Given the description of an element on the screen output the (x, y) to click on. 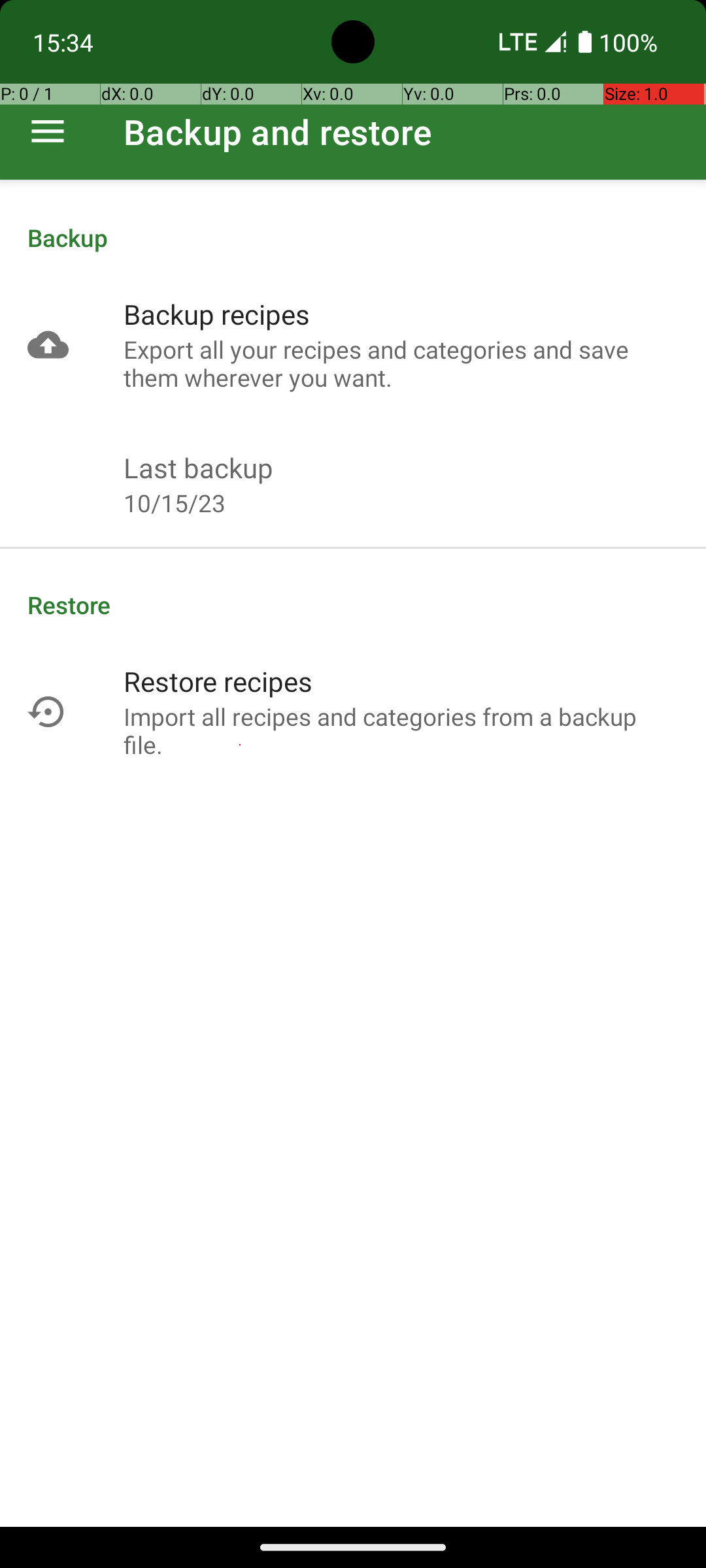
Backup recipes Element type: android.widget.TextView (216, 313)
Export all your recipes and categories and save them wherever you want. Element type: android.widget.TextView (400, 362)
Last backup Element type: android.widget.TextView (198, 467)
10/15/23 Element type: android.widget.TextView (174, 502)
Restore Element type: android.widget.TextView (352, 604)
Restore recipes Element type: android.widget.TextView (217, 680)
Import all recipes and categories from a backup file. Element type: android.widget.TextView (400, 730)
